Given the description of an element on the screen output the (x, y) to click on. 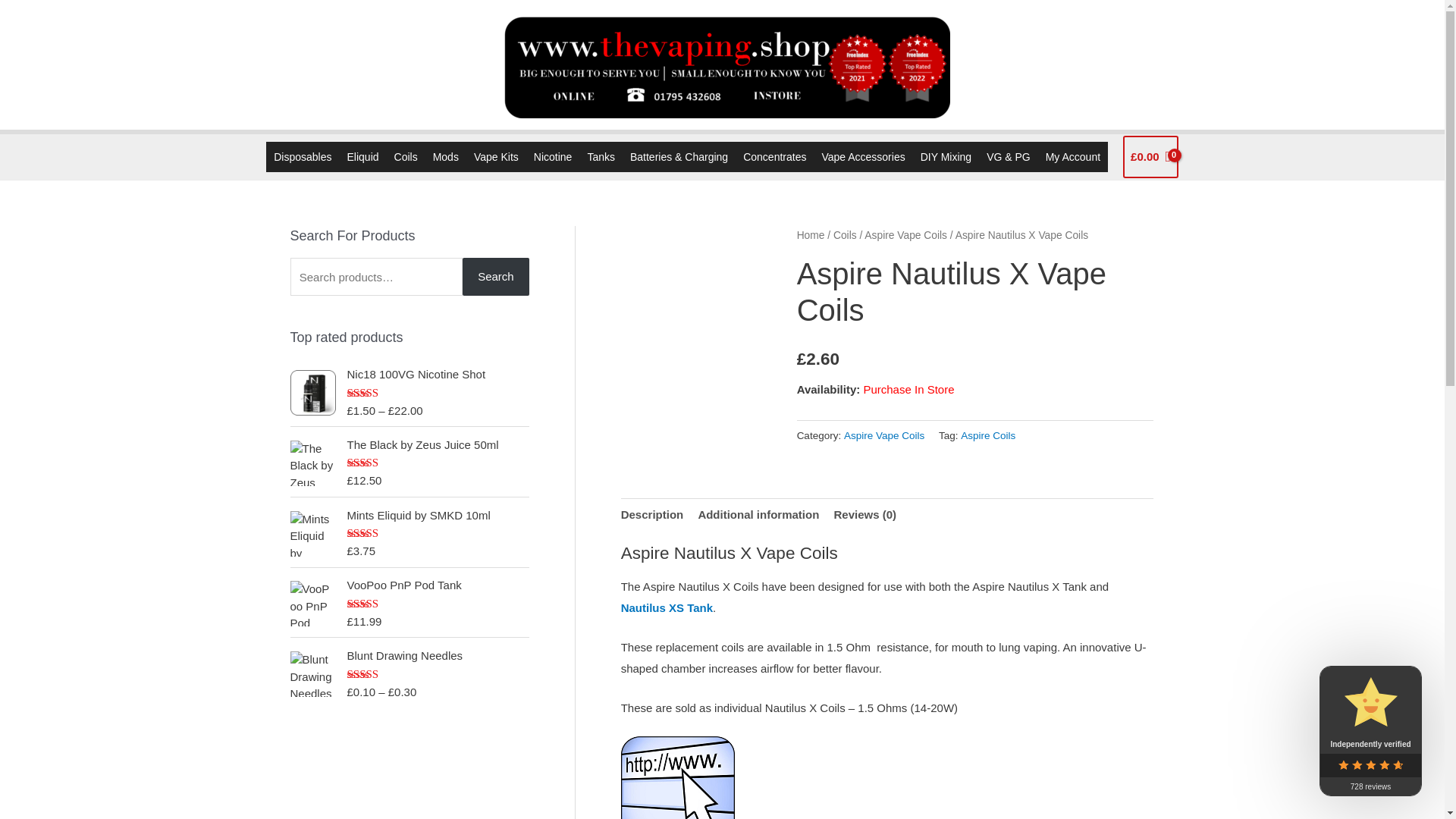
Search (496, 276)
The Black by Zeus Juice 50ml (438, 445)
My Account (1073, 156)
Home (810, 235)
Coils (406, 156)
Concentrates (774, 156)
Coils (844, 235)
DIY Mixing (945, 156)
Vape Accessories (862, 156)
Vape Kits (495, 156)
